Given the description of an element on the screen output the (x, y) to click on. 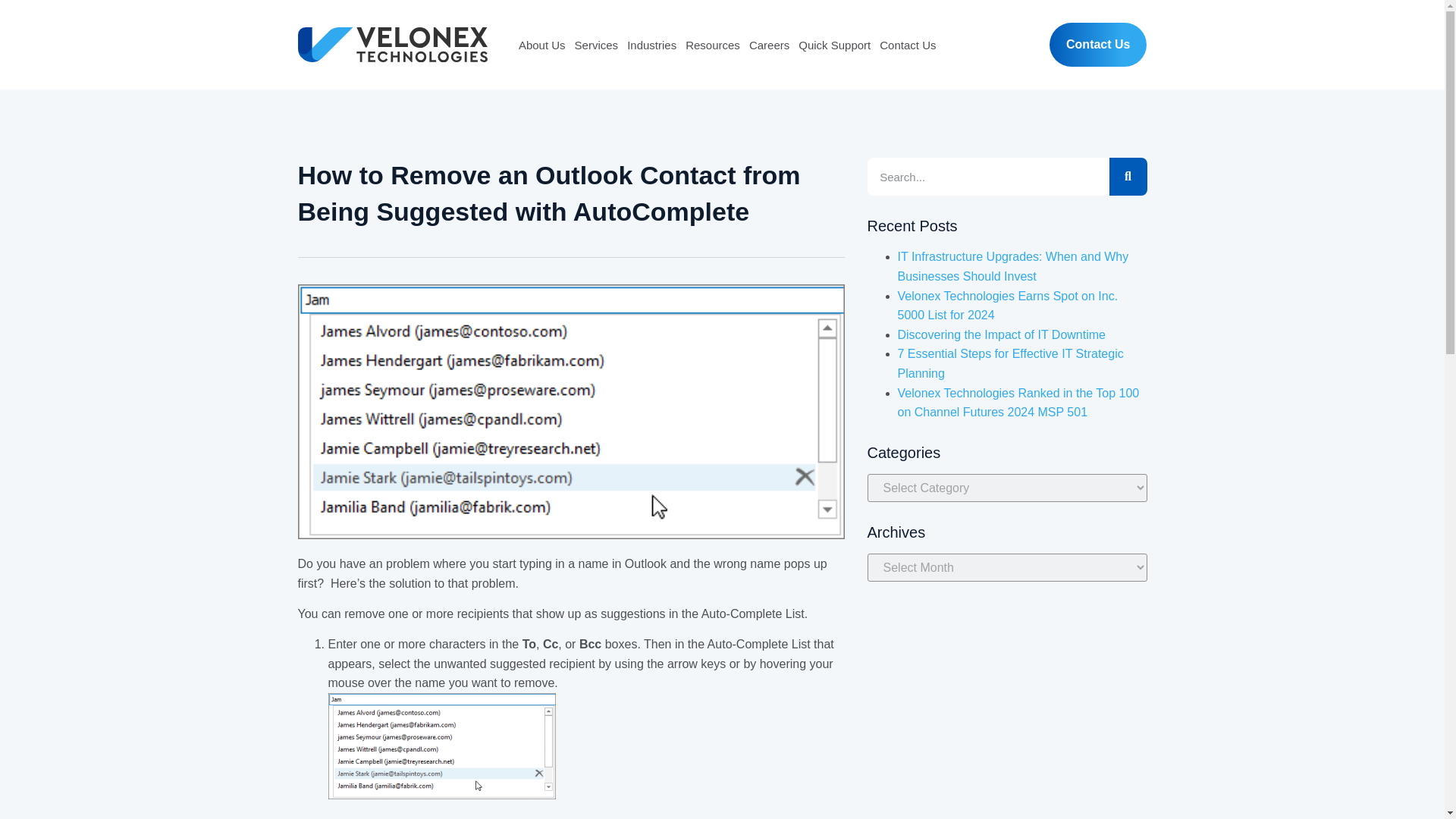
Industries (652, 45)
About Us (541, 45)
Resources (712, 45)
Careers (768, 45)
Quick Support (834, 45)
Services (596, 45)
Delete command (485, 817)
Contact Us (907, 45)
